Given the description of an element on the screen output the (x, y) to click on. 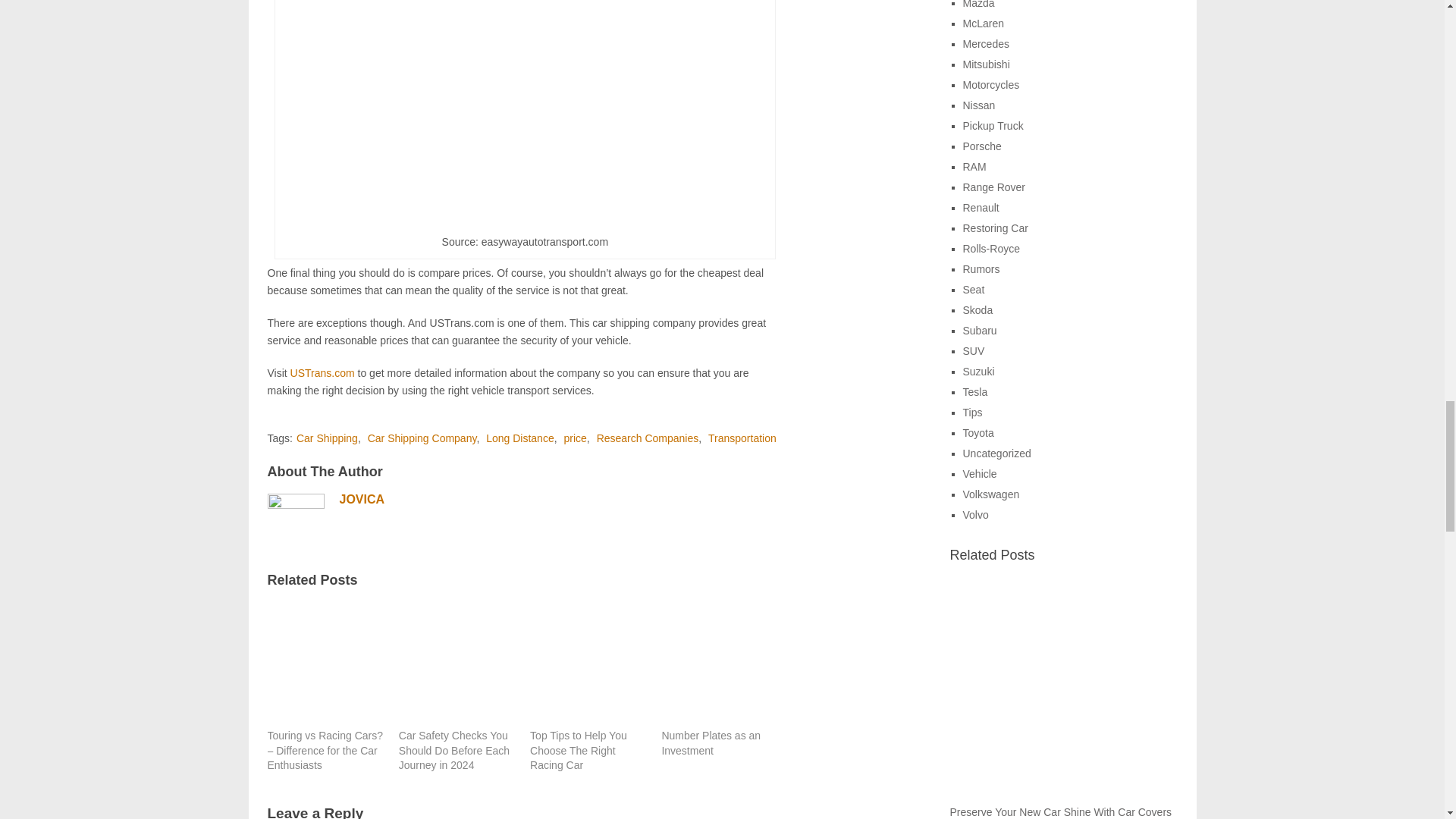
Transportation (741, 438)
JOVICA (362, 499)
Long Distance (520, 438)
Car Shipping (327, 438)
Research Companies (647, 438)
price (574, 438)
Car Shipping Company (422, 438)
USTrans.com (322, 372)
